Given the description of an element on the screen output the (x, y) to click on. 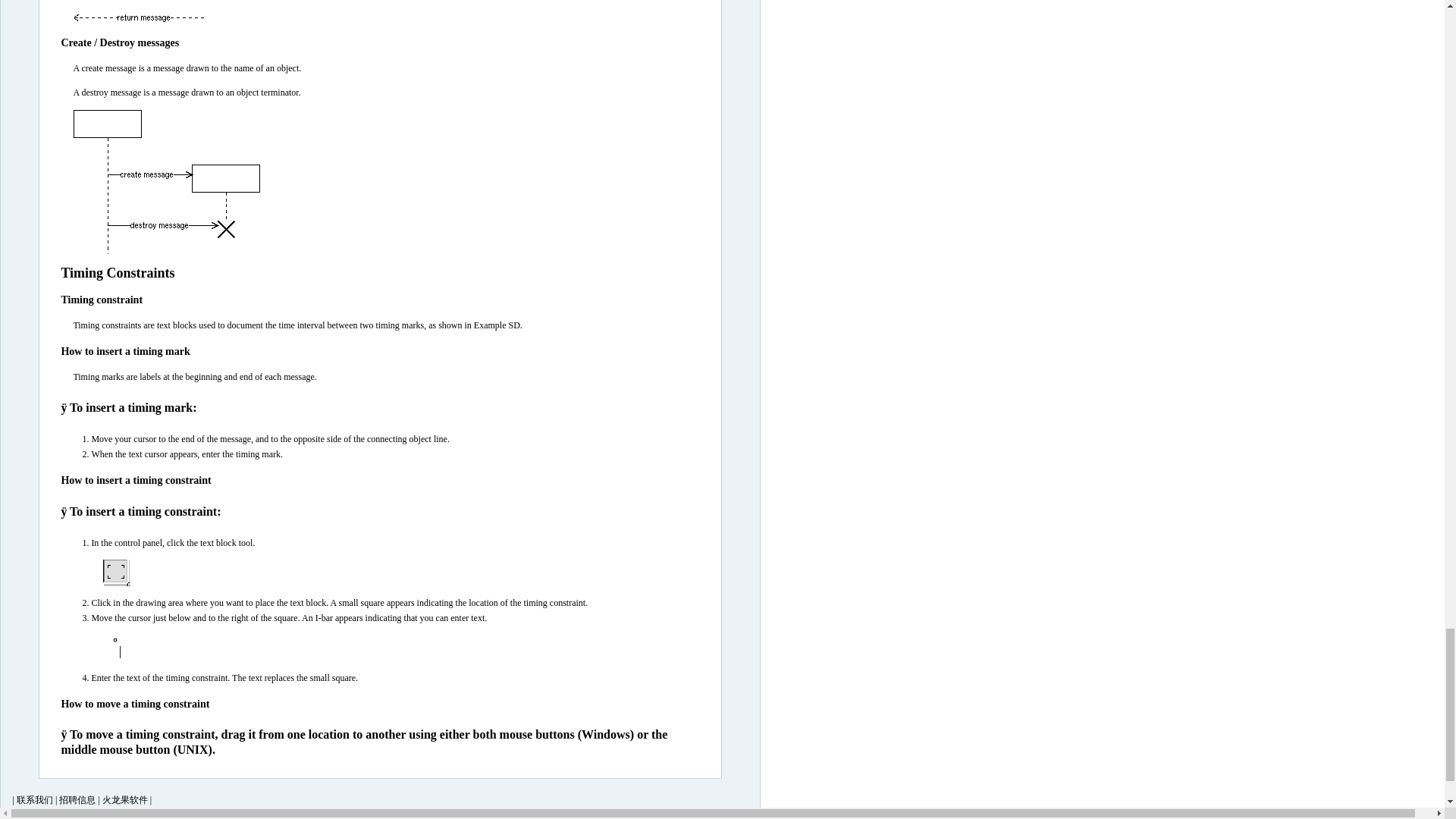
Example SD (496, 325)
